Given the description of an element on the screen output the (x, y) to click on. 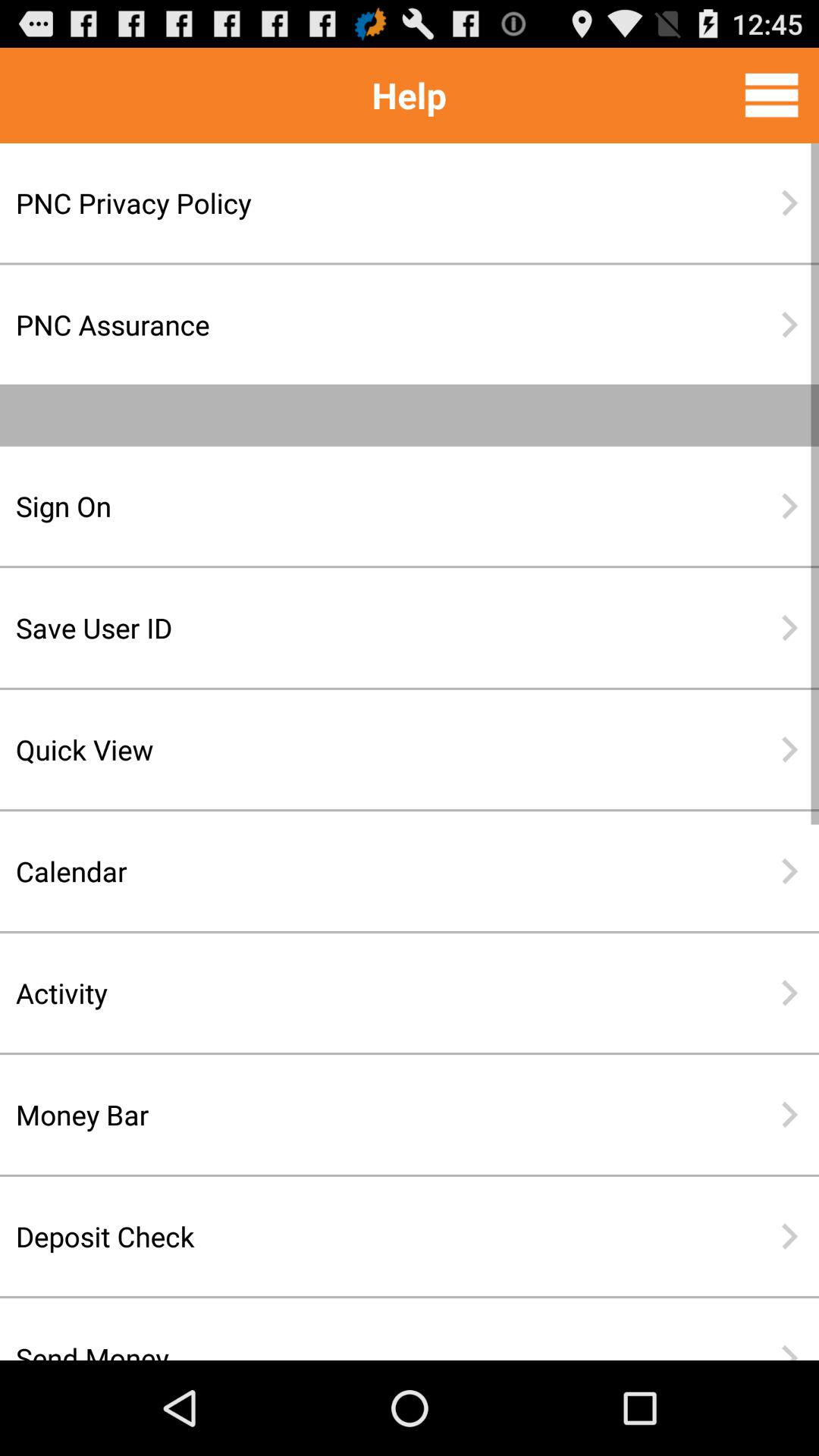
launch quick view icon (359, 749)
